Given the description of an element on the screen output the (x, y) to click on. 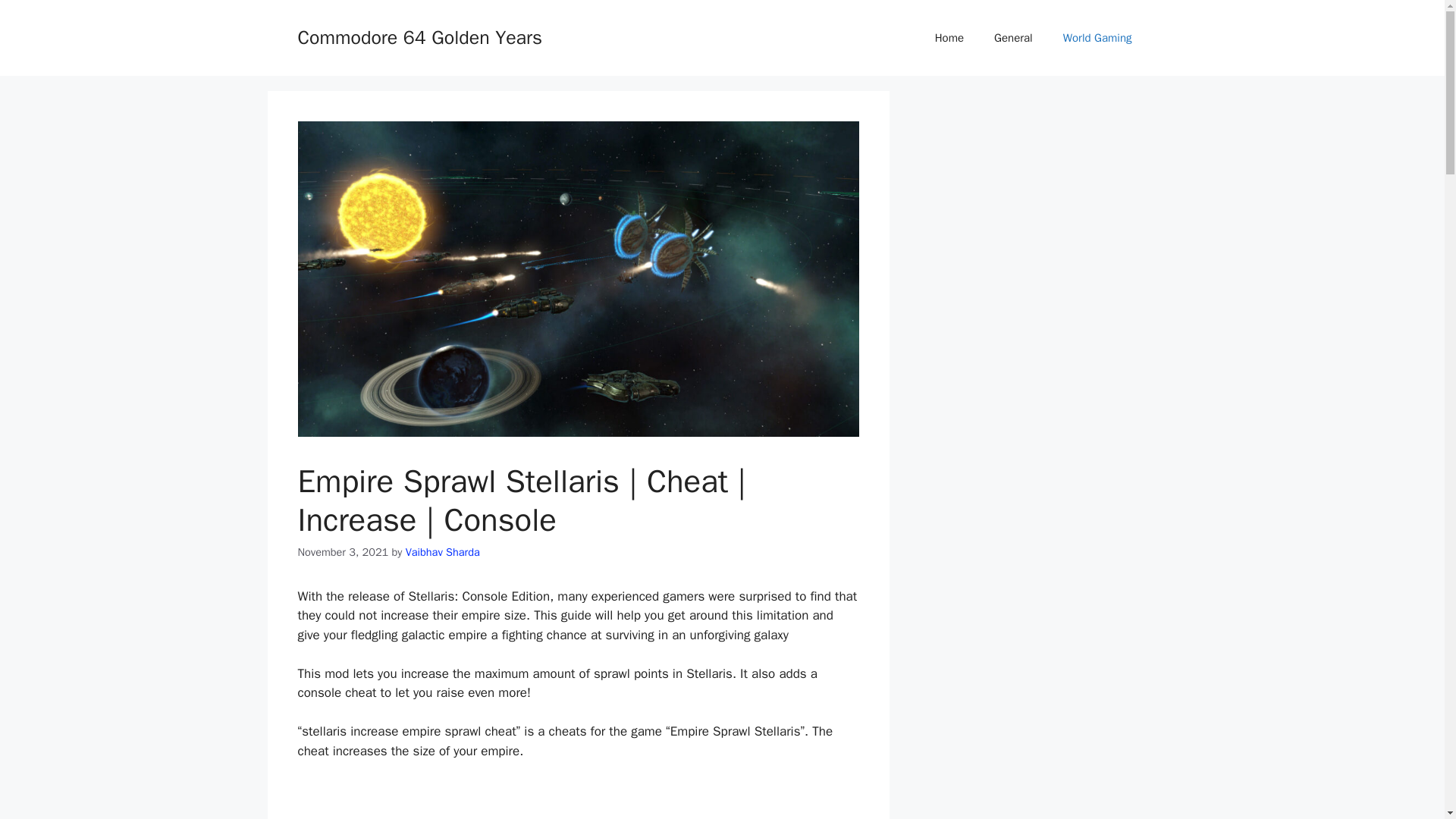
YouTube video player (578, 799)
World Gaming (1097, 37)
Commodore 64 Golden Years (419, 37)
General (1013, 37)
Home (949, 37)
View all posts by Vaibhav Sharda (443, 551)
Vaibhav Sharda (443, 551)
